Given the description of an element on the screen output the (x, y) to click on. 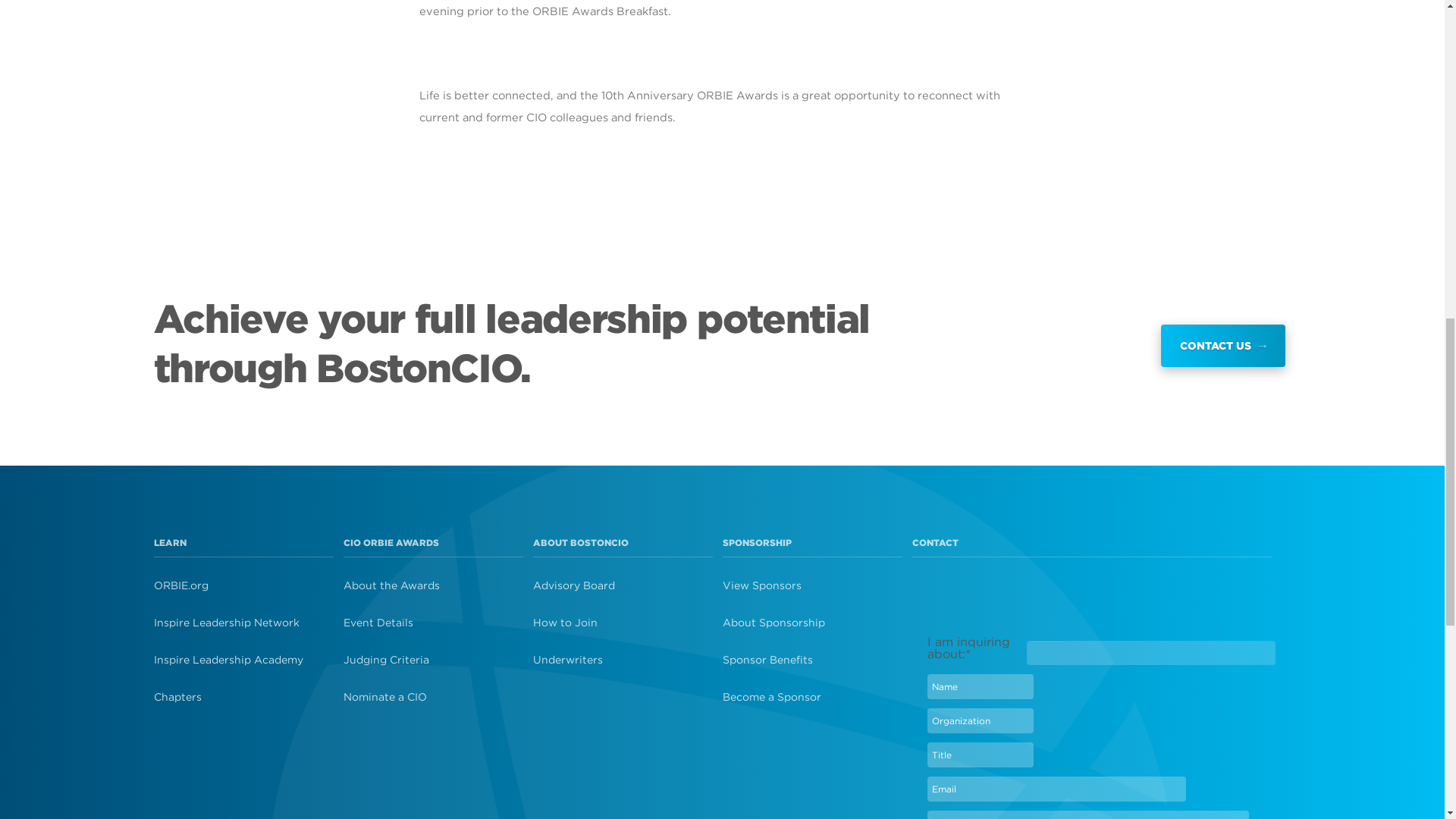
Advisory Board (627, 584)
View Sponsors (816, 584)
About Sponsorship (816, 621)
Become a Sponsor (816, 696)
CONTACT US (1222, 345)
Chapters (247, 696)
How to Join (627, 621)
Nominate a CIO (437, 696)
Sponsor Benefits (816, 659)
CIO ORBIE AWARDS (390, 542)
